Given the description of an element on the screen output the (x, y) to click on. 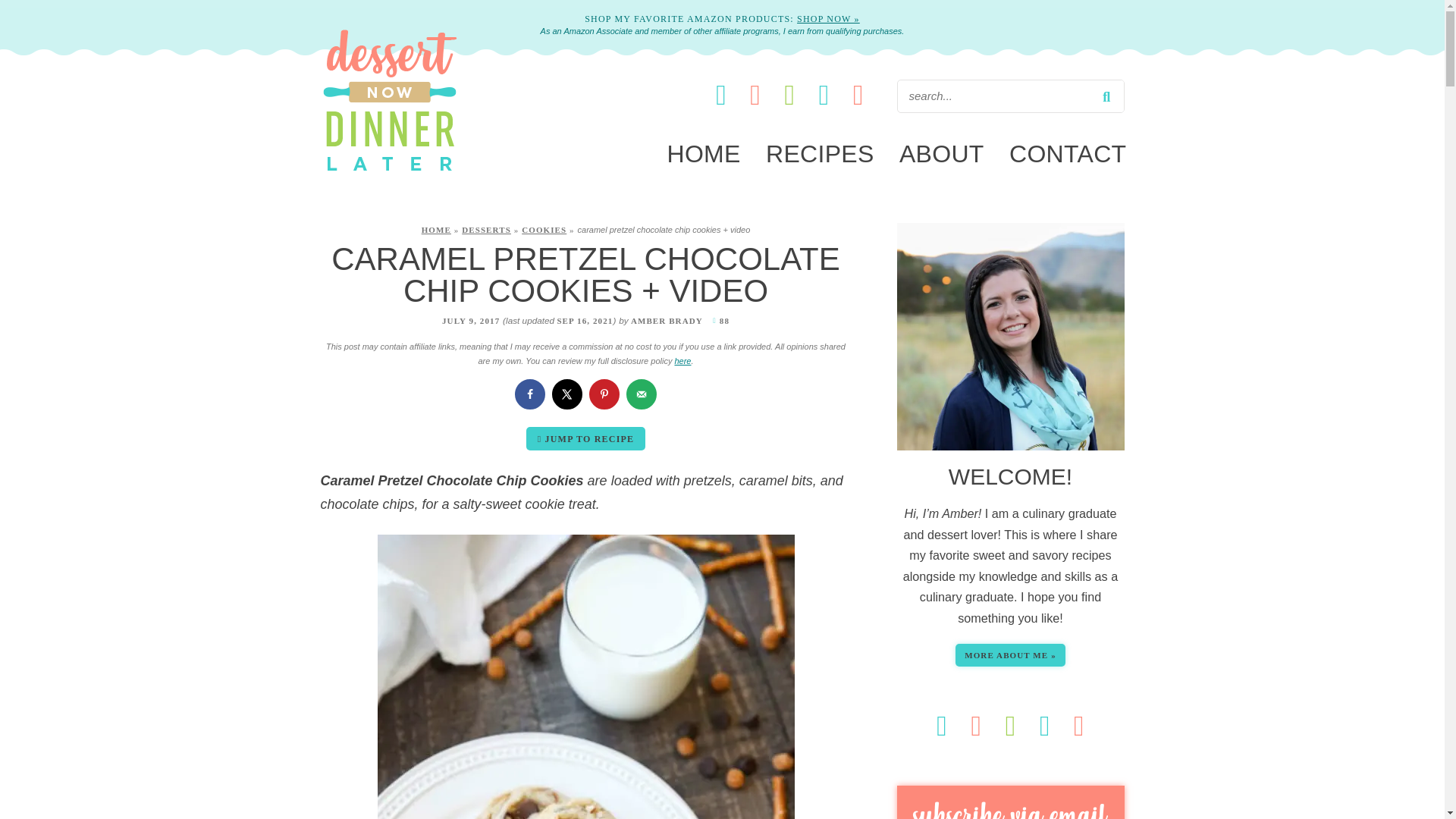
Share on X (566, 394)
Save to Pinterest (604, 394)
RSS (858, 94)
Dessert Now Dinner Later (389, 172)
Instagram (791, 94)
Twitter (825, 94)
Pinterest (756, 94)
Share on Facebook (529, 394)
Send over email (641, 394)
Facebook (721, 94)
